Given the description of an element on the screen output the (x, y) to click on. 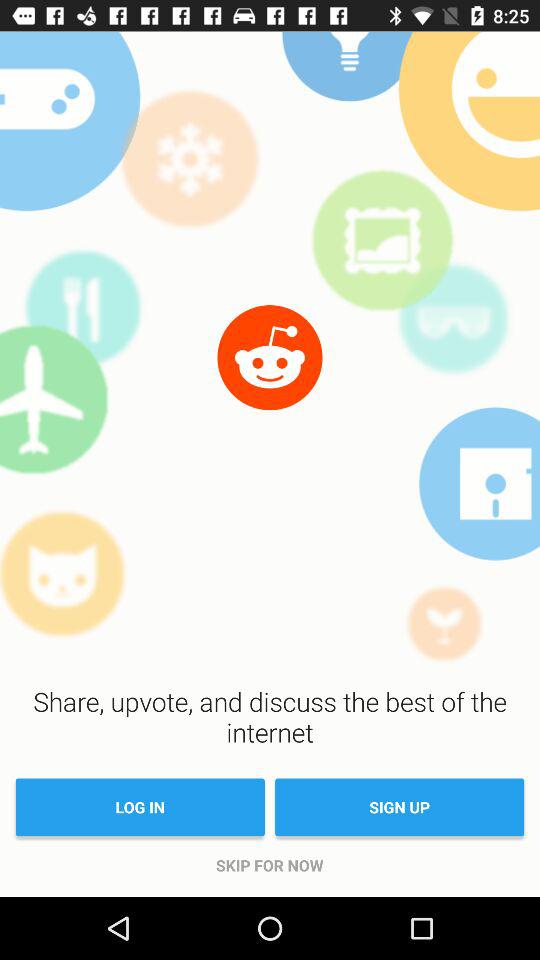
turn on item above the skip for now (140, 807)
